Given the description of an element on the screen output the (x, y) to click on. 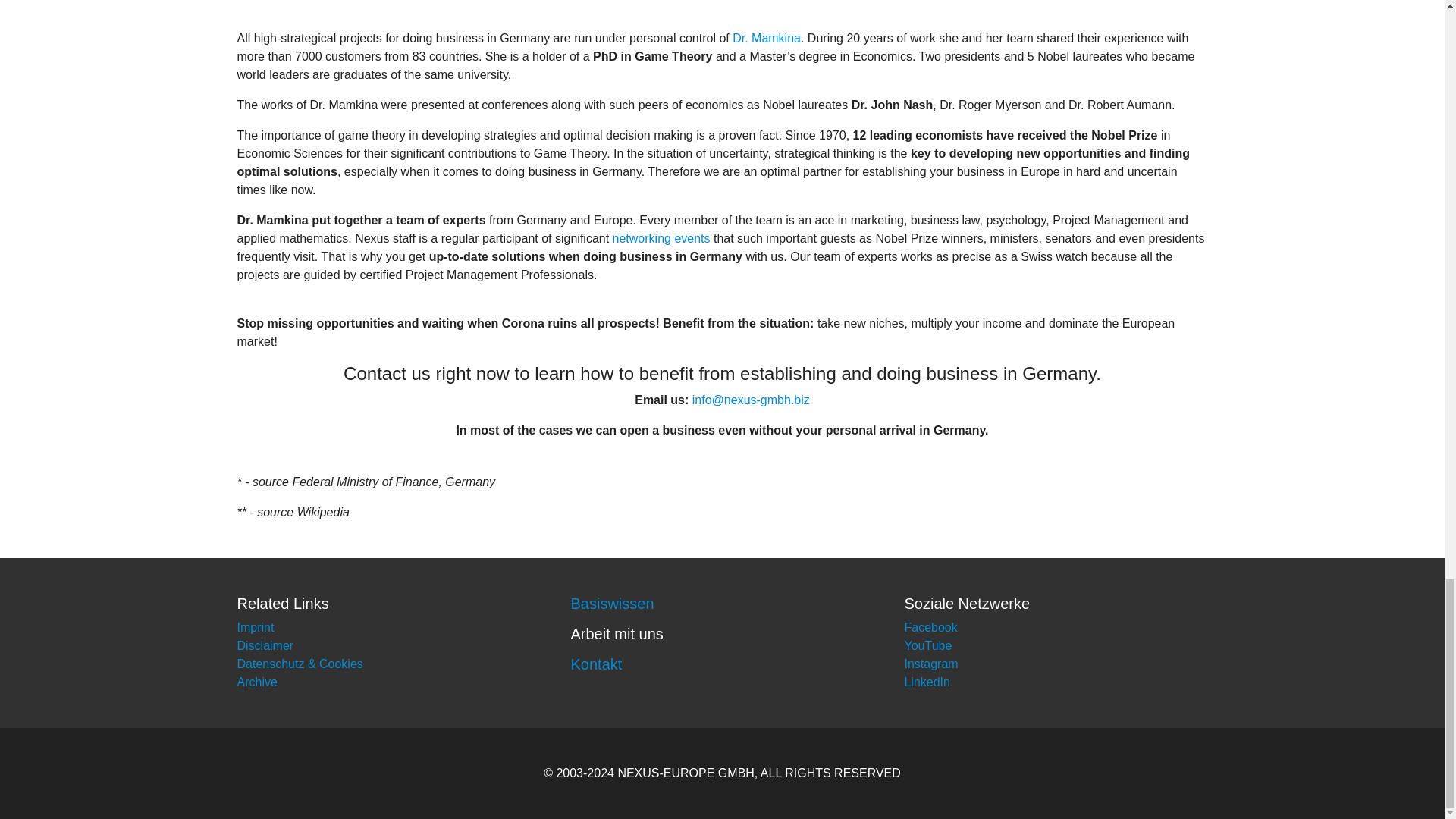
Imprint (254, 626)
Dr. Mamkina (766, 38)
Disclaimer (264, 645)
networking events (661, 237)
Archive (255, 681)
